Given the description of an element on the screen output the (x, y) to click on. 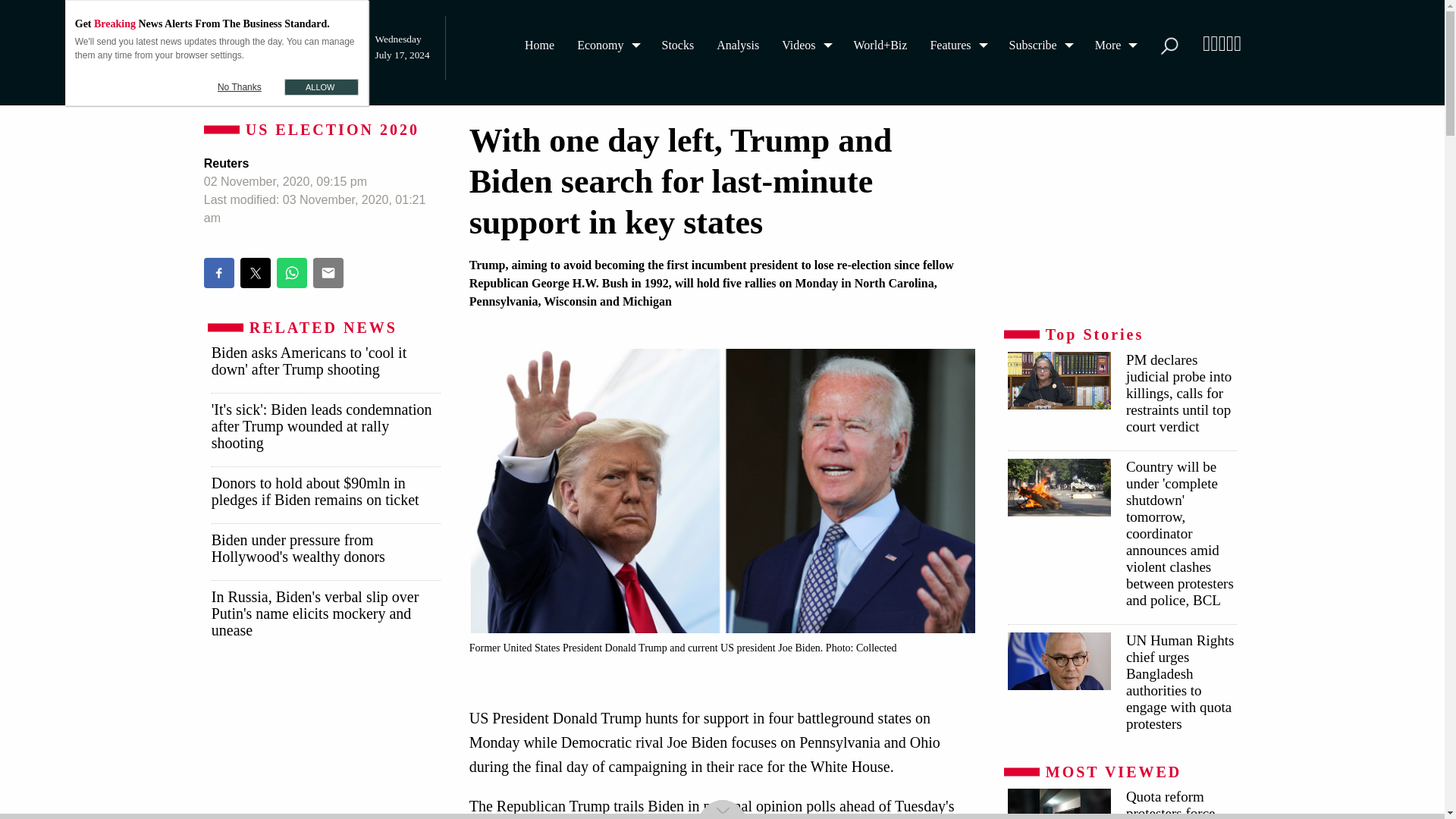
3rd party ad content (324, 744)
3rd party ad content (1120, 215)
No Thanks (239, 86)
    ALLOW      (320, 86)
